Given the description of an element on the screen output the (x, y) to click on. 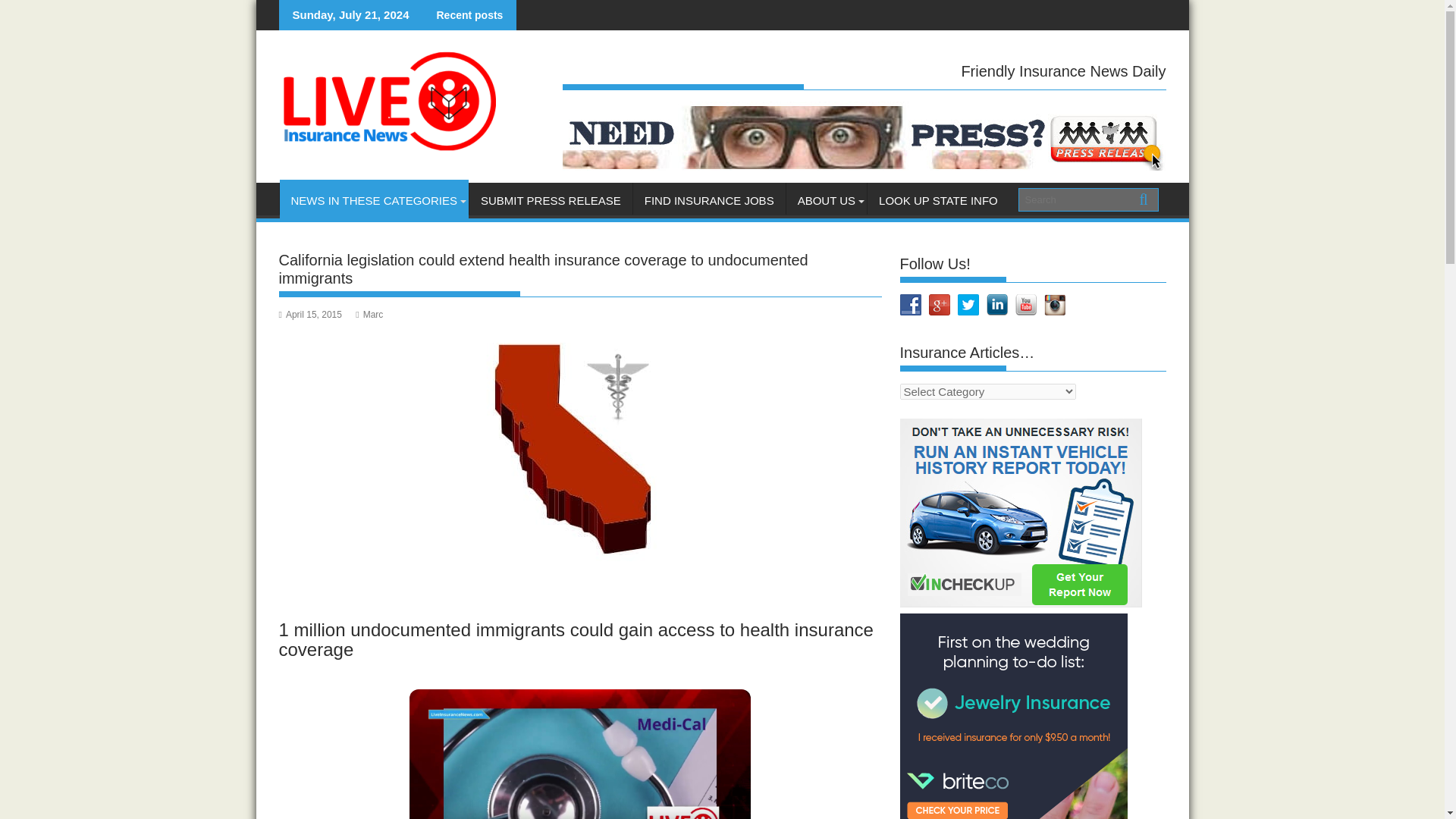
April 15, 2015 (310, 314)
SUBMIT PRESS RELEASE (549, 200)
FIND INSURANCE JOBS (709, 200)
NEWS IN THESE CATEGORIES (373, 200)
ABOUT US (826, 200)
LOOK UP STATE INFO (938, 200)
